Given the description of an element on the screen output the (x, y) to click on. 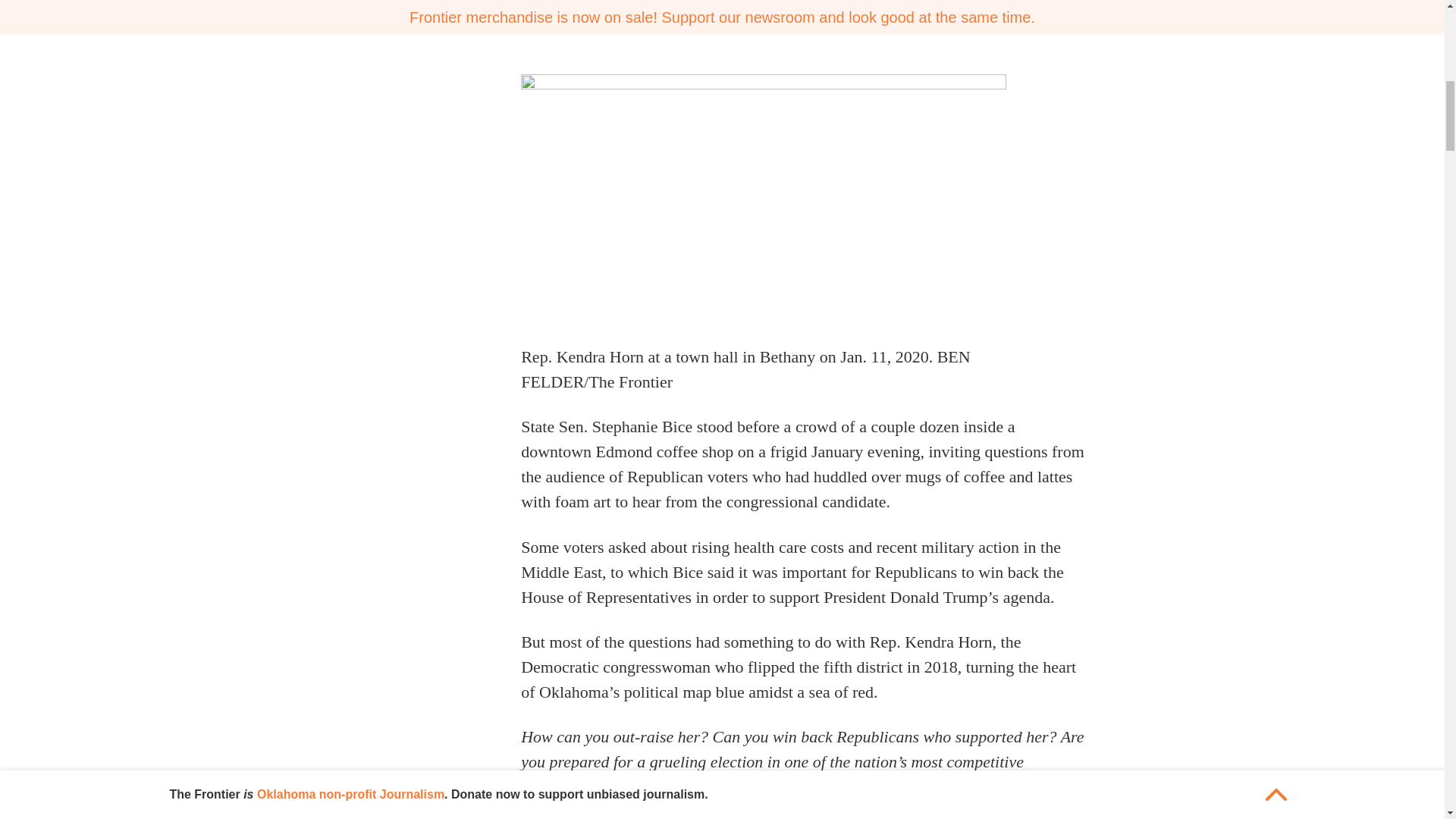
Screen Shot 2020-03-04 at 9.53.33 PM (901, 13)
